Given the description of an element on the screen output the (x, y) to click on. 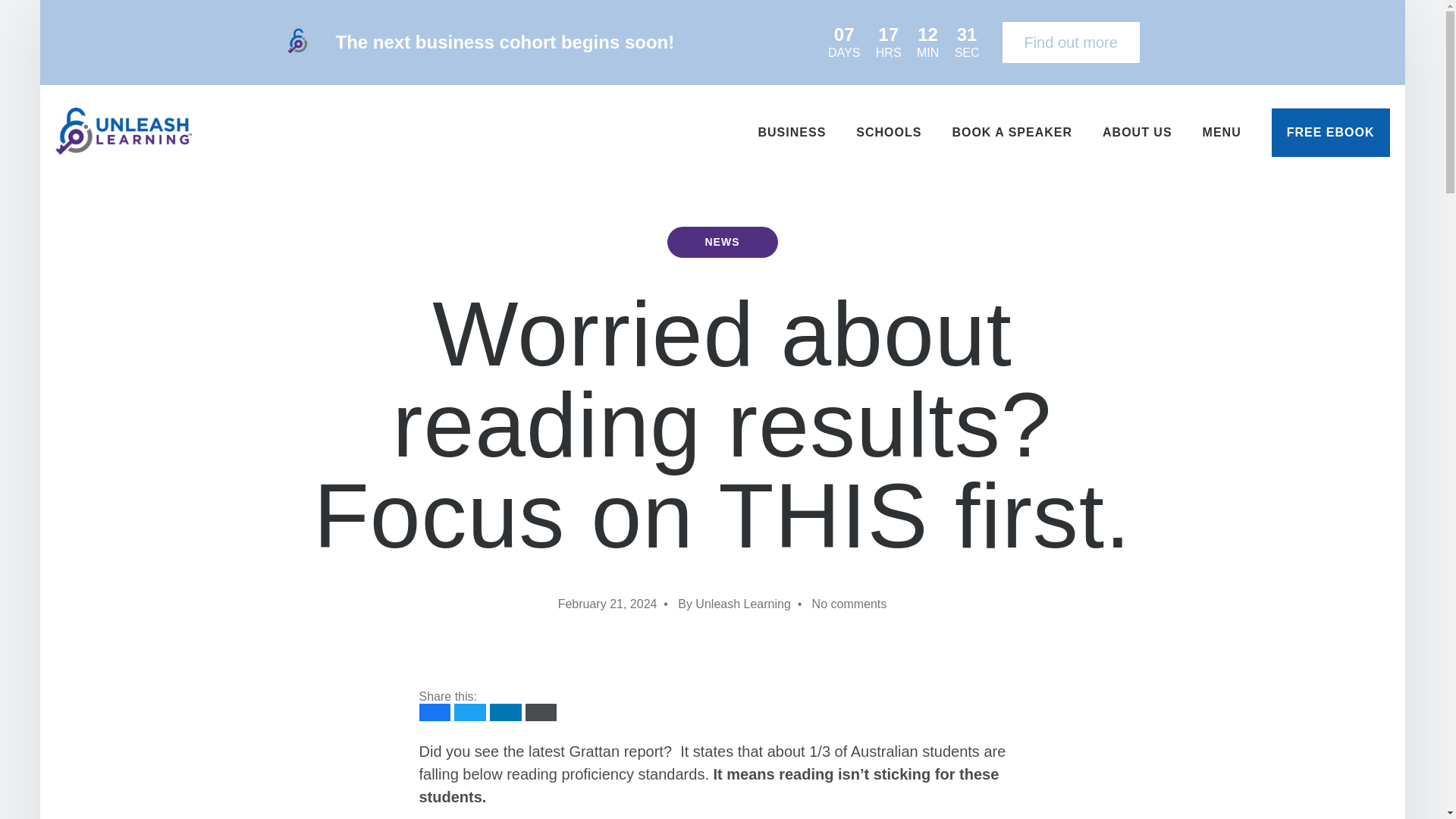
ABOUT US (1137, 132)
BUSINESS (791, 132)
BOOK A SPEAKER (1011, 132)
NEWS (721, 241)
SCHOOLS (888, 132)
FREE EBOOK (1330, 132)
MENU (1222, 132)
Find out more (1071, 42)
